Given the description of an element on the screen output the (x, y) to click on. 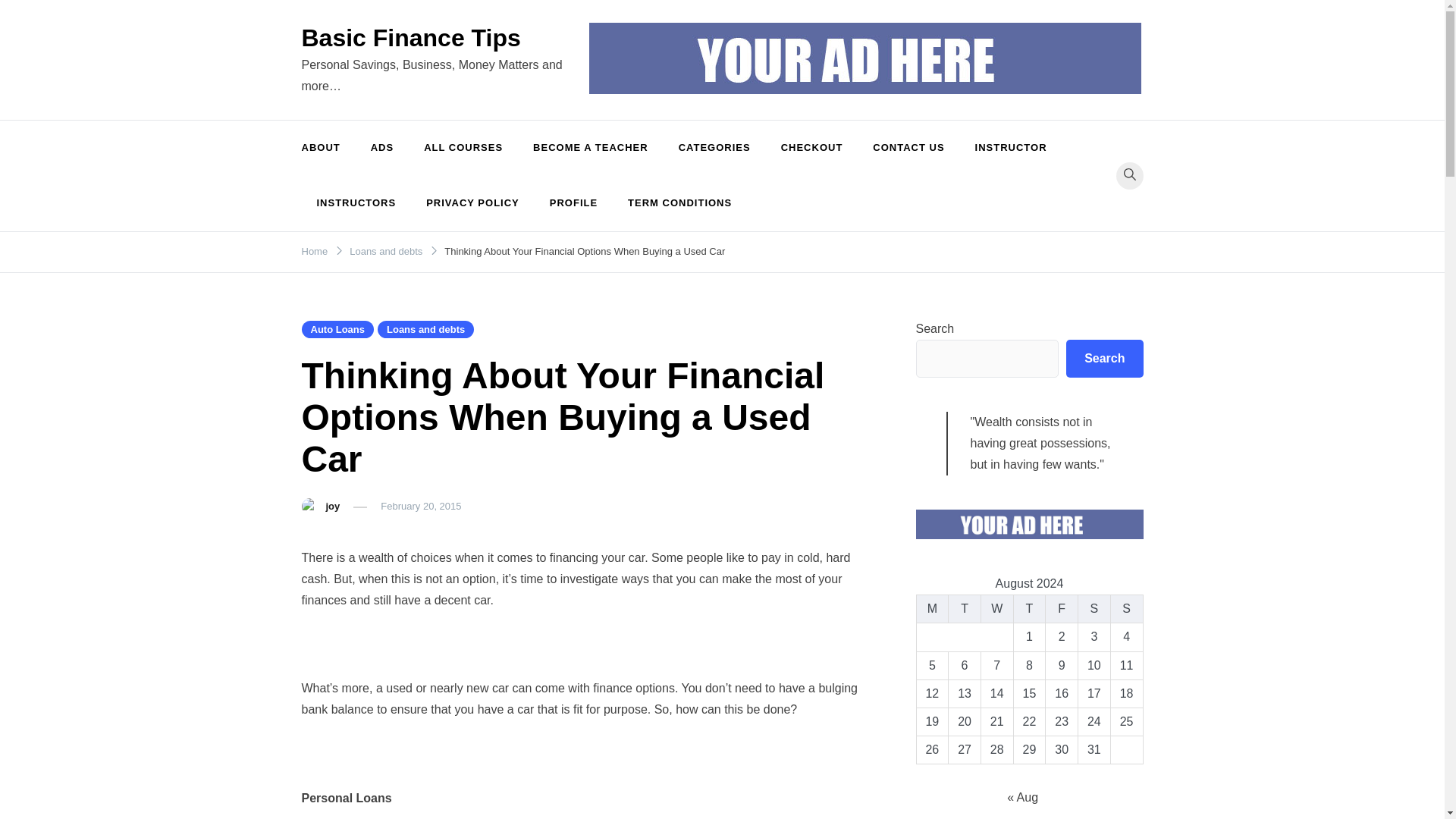
Home (315, 251)
Wednesday (996, 609)
ADS (382, 148)
INSTRUCTOR (1010, 148)
Loans and debts (425, 329)
Auto Loans (337, 329)
Basic Finance Tips (411, 37)
joy (333, 505)
February 20, 2015 (420, 505)
BECOME A TEACHER (590, 148)
Monday (932, 609)
CONTACT US (908, 148)
PRIVACY POLICY (472, 203)
CHECKOUT (812, 148)
ALL COURSES (463, 148)
